Given the description of an element on the screen output the (x, y) to click on. 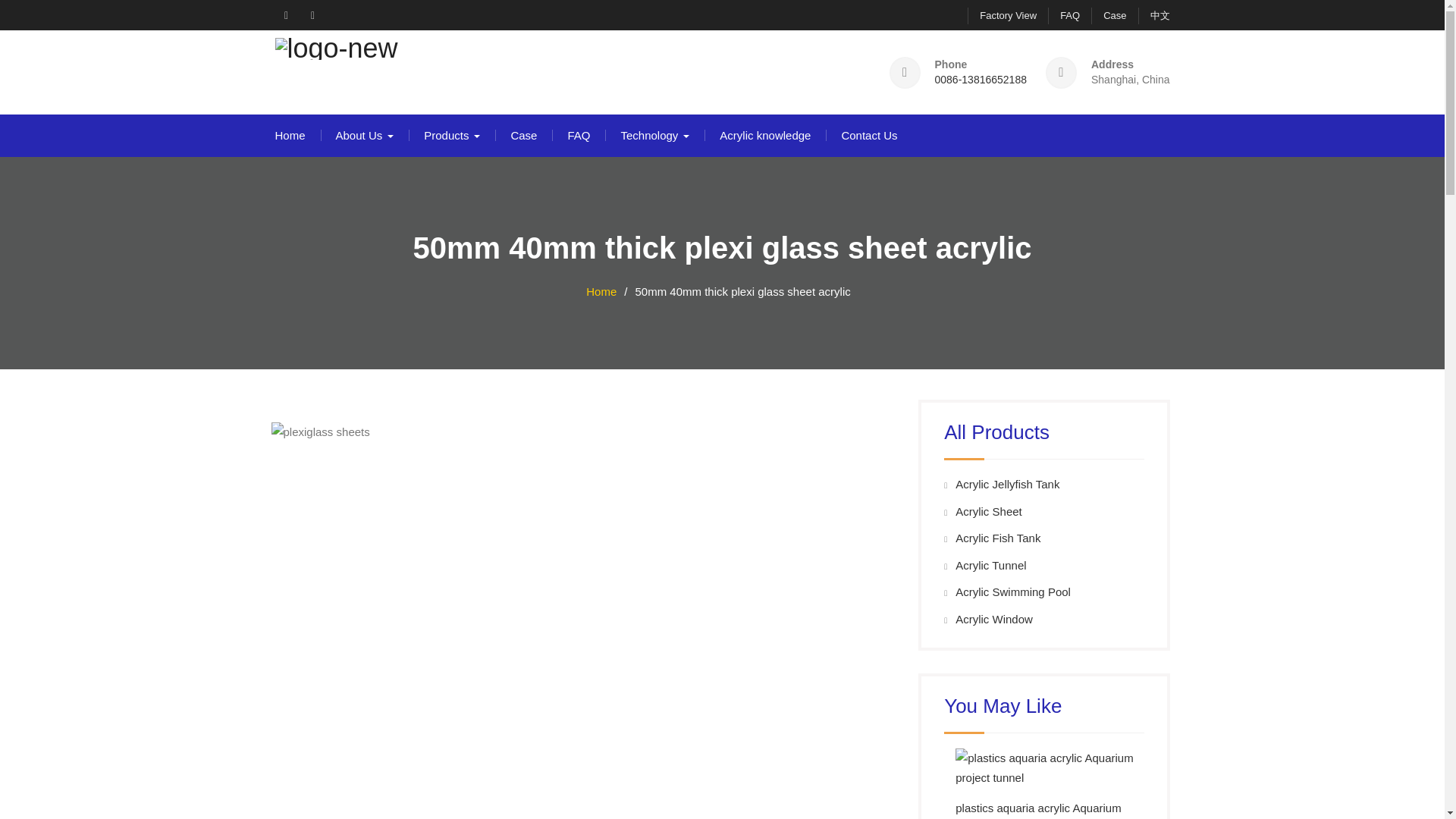
0086-13816652188 (980, 80)
Pinterest (286, 15)
About Us (365, 135)
Home (289, 135)
Case (1107, 15)
Youtube (312, 15)
Factory View (1002, 15)
FAQ (1064, 15)
